Given the description of an element on the screen output the (x, y) to click on. 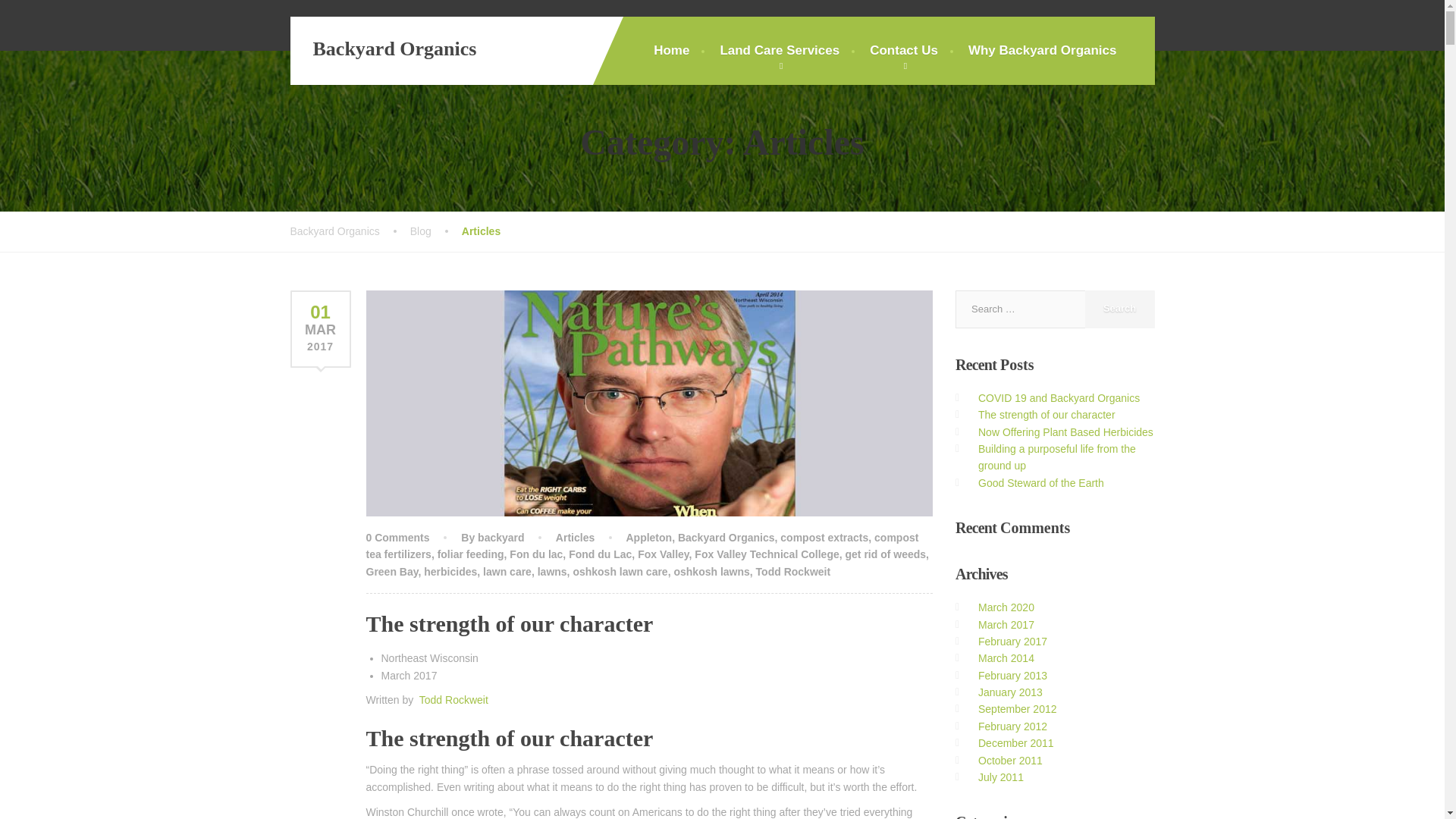
Fox Valley Technical College (766, 553)
Blog (435, 230)
Green Bay (391, 571)
Backyard Organics (726, 537)
Contact Us (903, 50)
Go to Blog. (435, 230)
Articles (575, 537)
Why Backyard Organics (1042, 50)
Backyard Organics (382, 48)
Land Care Services (779, 50)
Appleton (648, 537)
Fond du Lac (600, 553)
Search (1119, 309)
lawn care (507, 571)
compost extracts (823, 537)
